Given the description of an element on the screen output the (x, y) to click on. 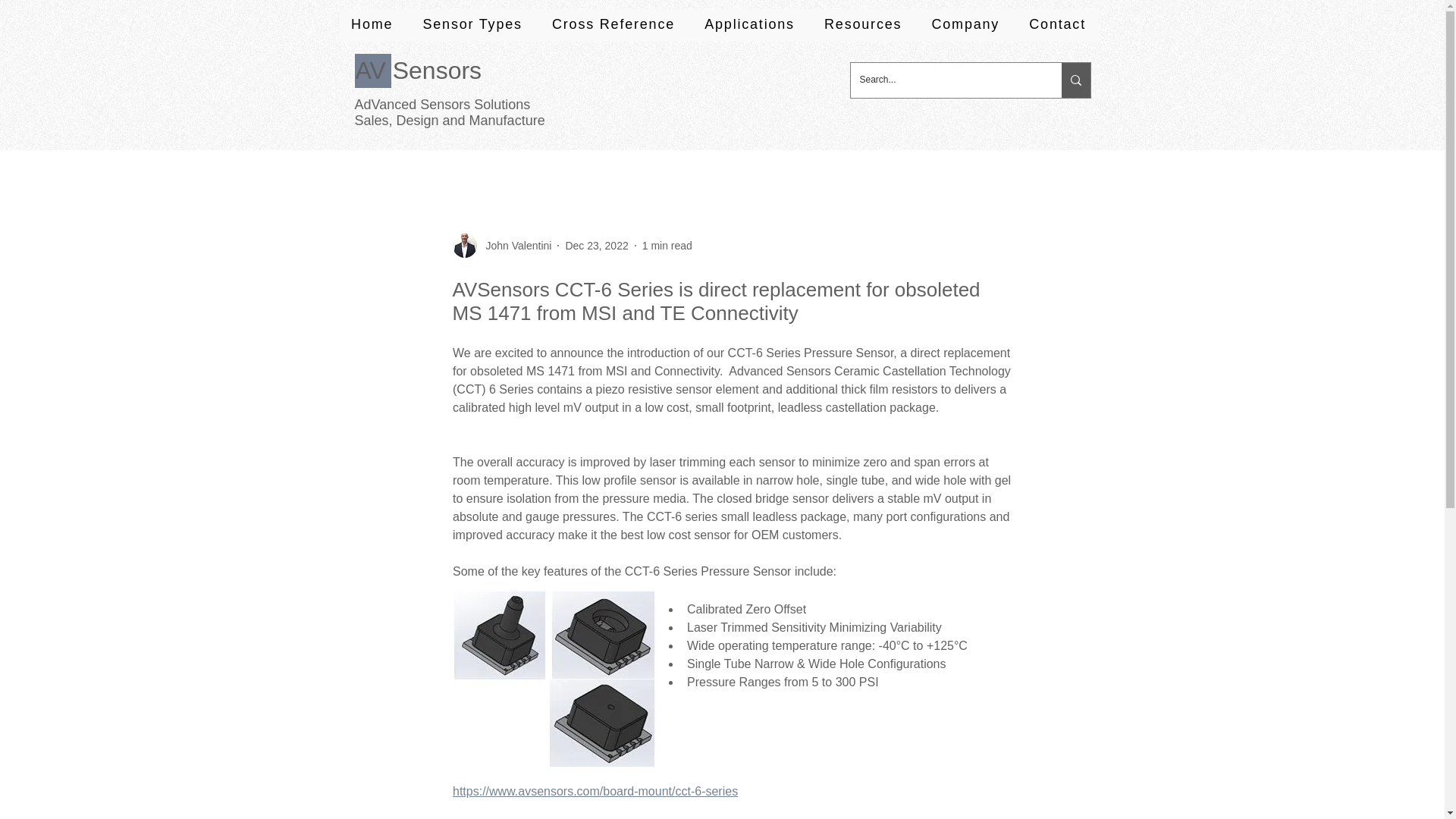
Sensor Types (472, 25)
Cross Reference (612, 25)
Contact (1057, 25)
Applications (750, 25)
Resources (862, 25)
Dec 23, 2022 (595, 245)
Company (964, 25)
1 min read (667, 245)
Home (370, 25)
AV Sensors (418, 70)
John Valentini (513, 245)
